Given the description of an element on the screen output the (x, y) to click on. 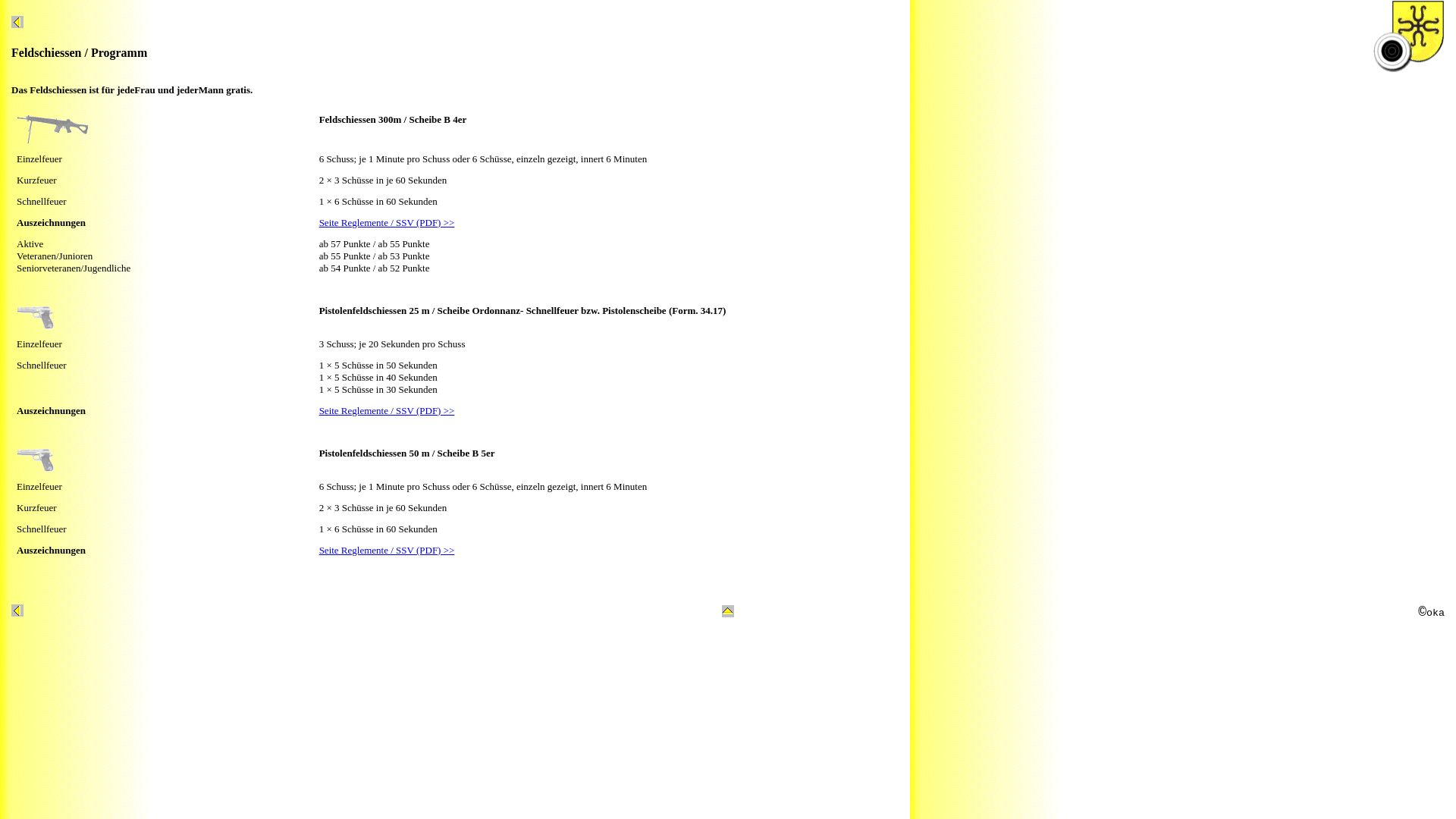
Seite Reglemente / SSV (PDF) >> Element type: text (387, 222)
Seite Reglemente / SSV (PDF) >> Element type: text (387, 410)
Seite Reglemente / SSV (PDF) >> Element type: text (387, 549)
